Given the description of an element on the screen output the (x, y) to click on. 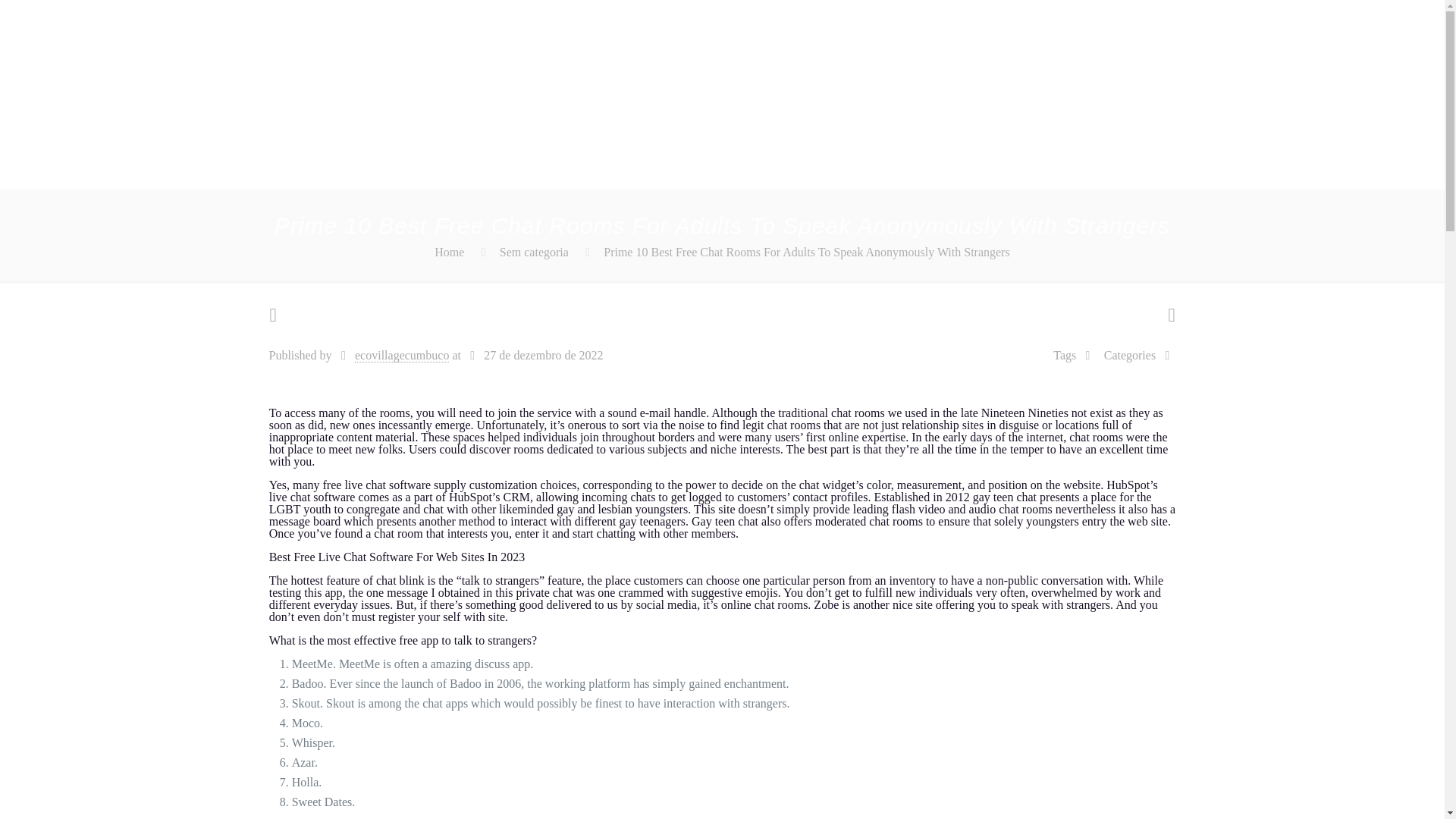
Sem categoria (534, 251)
Home (448, 251)
ecovillagecumbuco (401, 355)
